Given the description of an element on the screen output the (x, y) to click on. 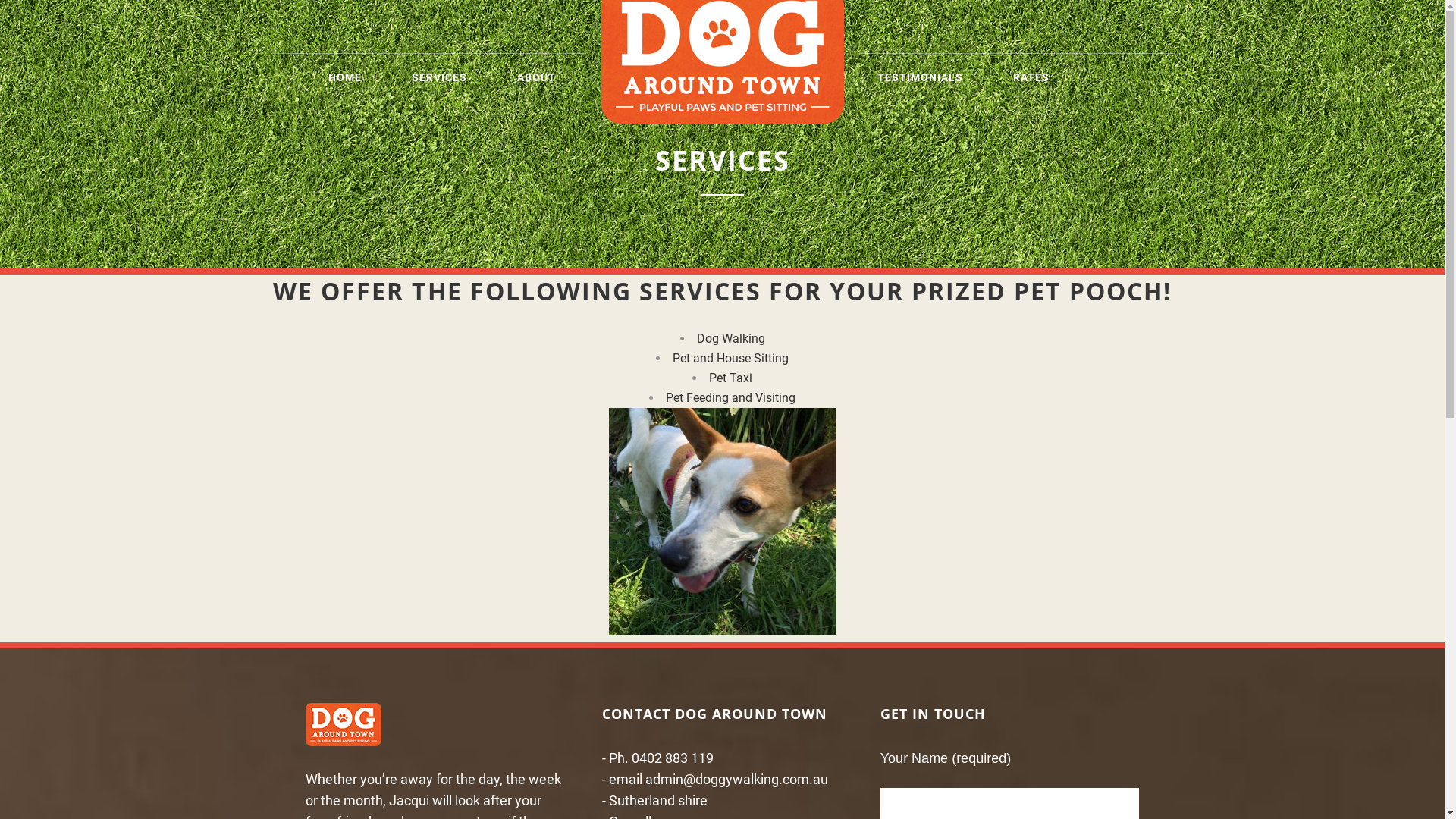
ABOUT Element type: text (547, 77)
Pet and House Sitting Element type: text (730, 358)
Pet Taxi Element type: text (730, 377)
TESTIMONIALS Element type: text (920, 77)
SERVICES Element type: text (451, 77)
RATES Element type: text (1030, 77)
Pet Feeding and Visiting Element type: text (730, 397)
Dog Walking Element type: text (730, 338)
HOME Element type: text (356, 77)
